Given the description of an element on the screen output the (x, y) to click on. 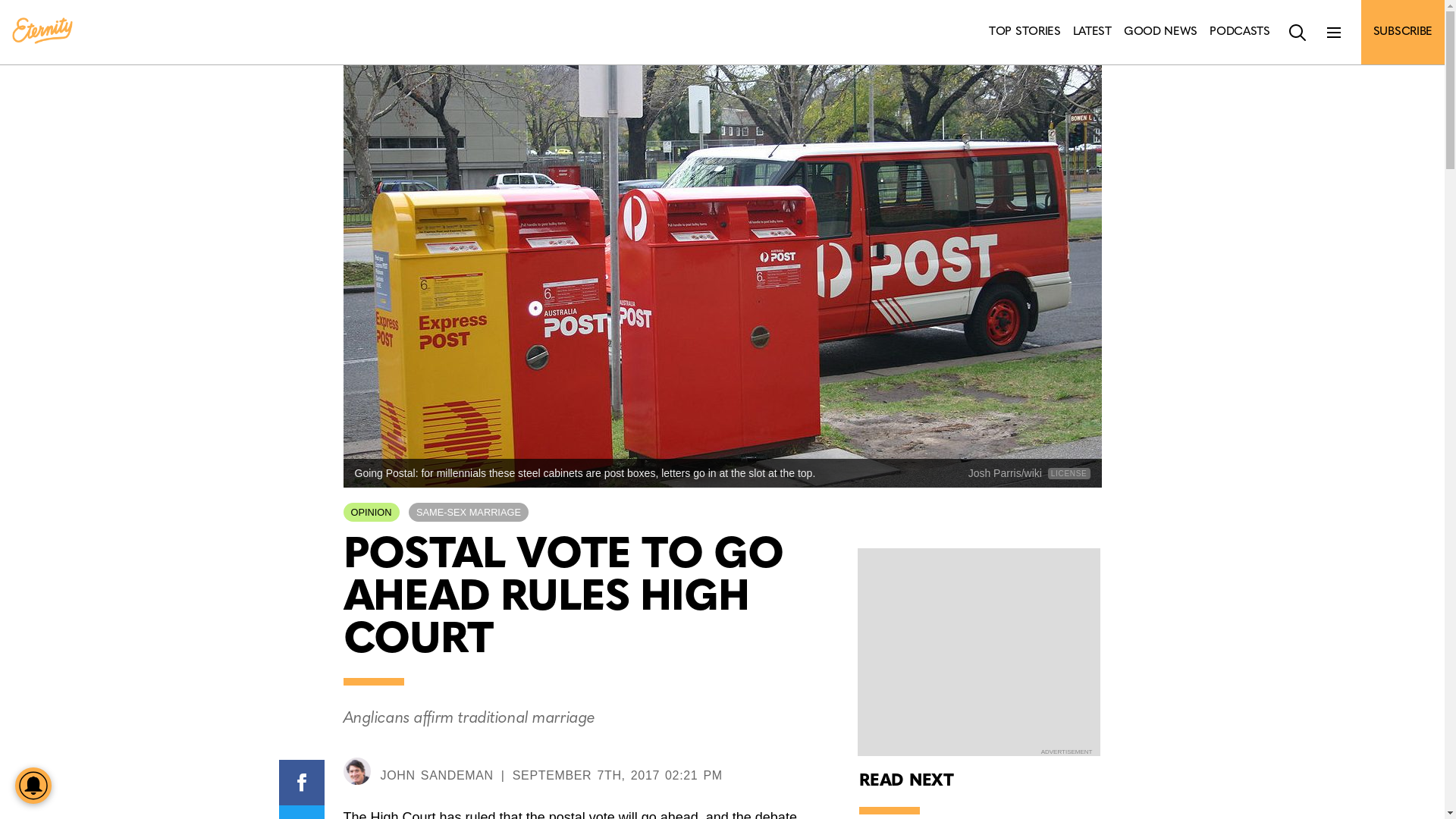
Advertisement Element type: hover (978, 650)
LATEST Element type: text (1092, 32)
LICENSE Element type: text (1069, 473)
ADVERTISEMENT Element type: text (1066, 752)
Josh Parris/wiki Element type: text (1004, 473)
OPINION Element type: text (370, 511)
TOP STORIES Element type: text (1024, 32)
Return to the Eternity News Homepage Element type: hover (42, 31)
Share on Facebook Element type: hover (301, 782)
GOOD NEWS Element type: text (1160, 32)
SUBSCRIBE Element type: text (1402, 32)
PODCASTS Element type: text (1239, 32)
JOHN SANDEMAN Element type: text (436, 774)
SAME-SEX MARRIAGE Element type: text (468, 511)
